Given the description of an element on the screen output the (x, y) to click on. 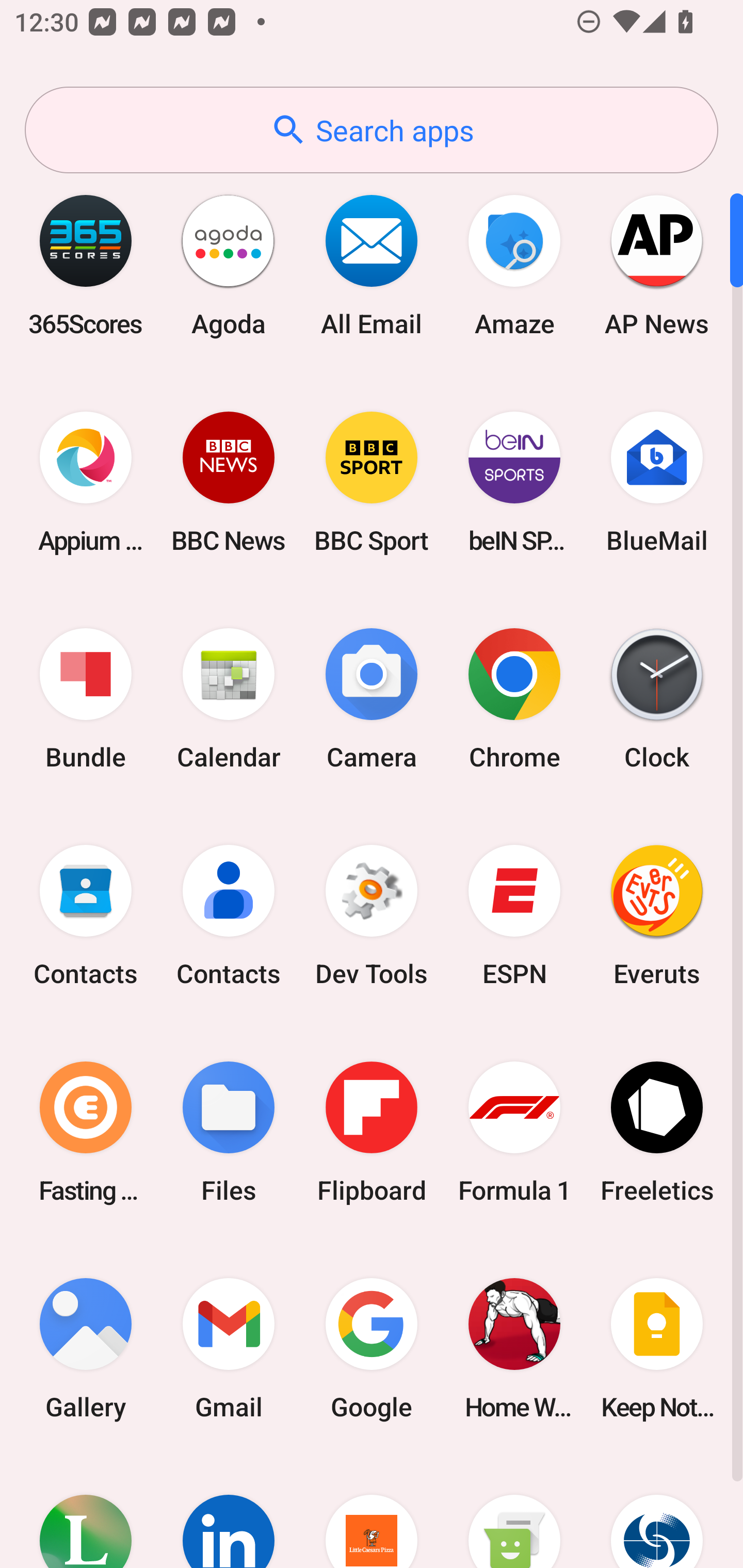
  Search apps (371, 130)
365Scores (85, 264)
Agoda (228, 264)
All Email (371, 264)
Amaze (514, 264)
AP News (656, 264)
Appium Settings (85, 482)
BBC News (228, 482)
BBC Sport (371, 482)
beIN SPORTS (514, 482)
BlueMail (656, 482)
Bundle (85, 699)
Calendar (228, 699)
Camera (371, 699)
Chrome (514, 699)
Clock (656, 699)
Contacts (85, 915)
Contacts (228, 915)
Dev Tools (371, 915)
ESPN (514, 915)
Everuts (656, 915)
Fasting Coach (85, 1131)
Files (228, 1131)
Flipboard (371, 1131)
Formula 1 (514, 1131)
Freeletics (656, 1131)
Gallery (85, 1348)
Gmail (228, 1348)
Google (371, 1348)
Home Workout (514, 1348)
Keep Notes (656, 1348)
